Given the description of an element on the screen output the (x, y) to click on. 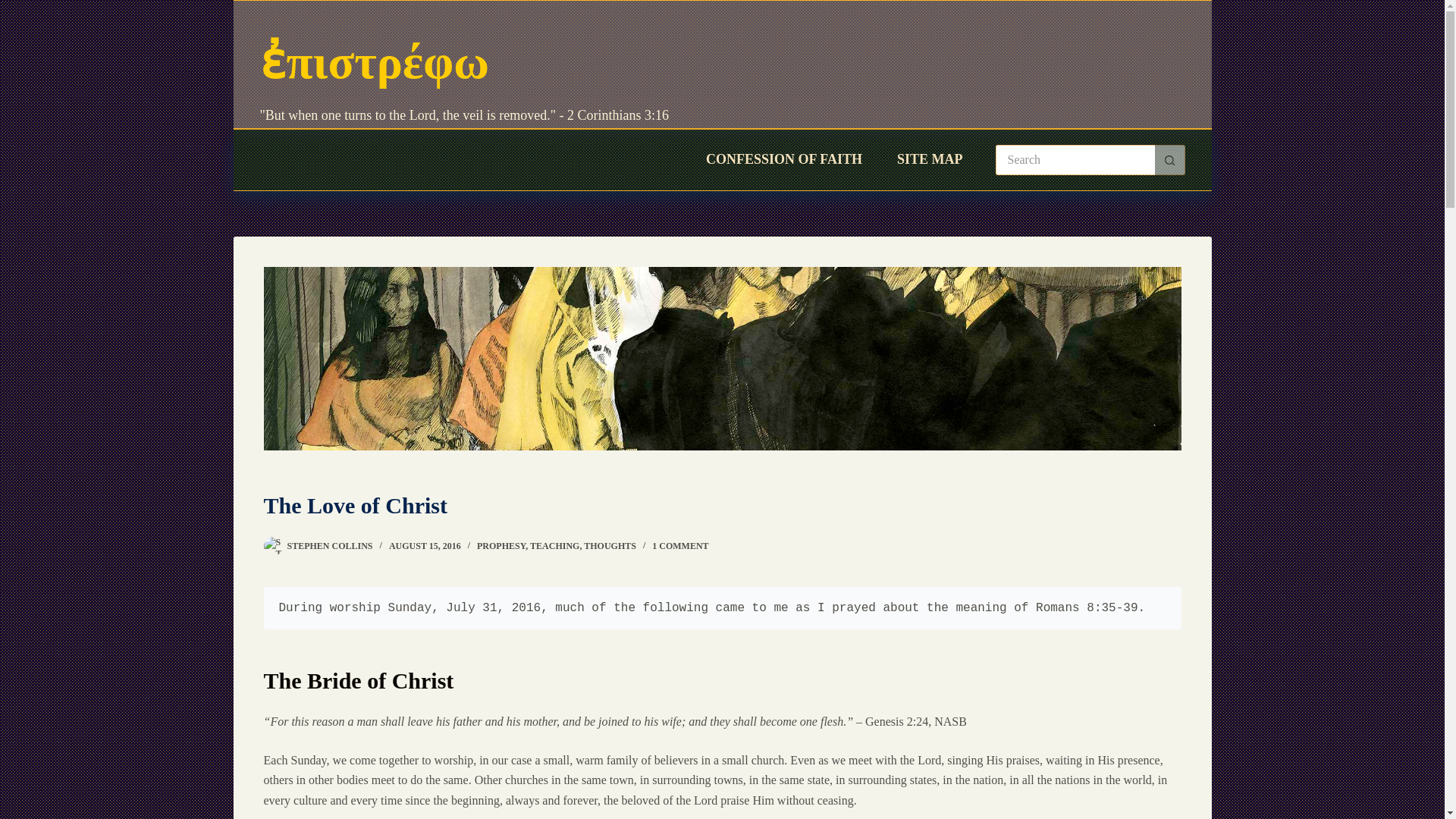
Skip to content (15, 7)
The Love of Christ (721, 505)
THOUGHTS (609, 545)
SITE MAP (929, 159)
TEACHING (554, 545)
STEPHEN COLLINS (329, 545)
Search for... (1074, 159)
1 COMMENT (679, 545)
Posts by Stephen Collins (329, 545)
PROPHESY (501, 545)
